Given the description of an element on the screen output the (x, y) to click on. 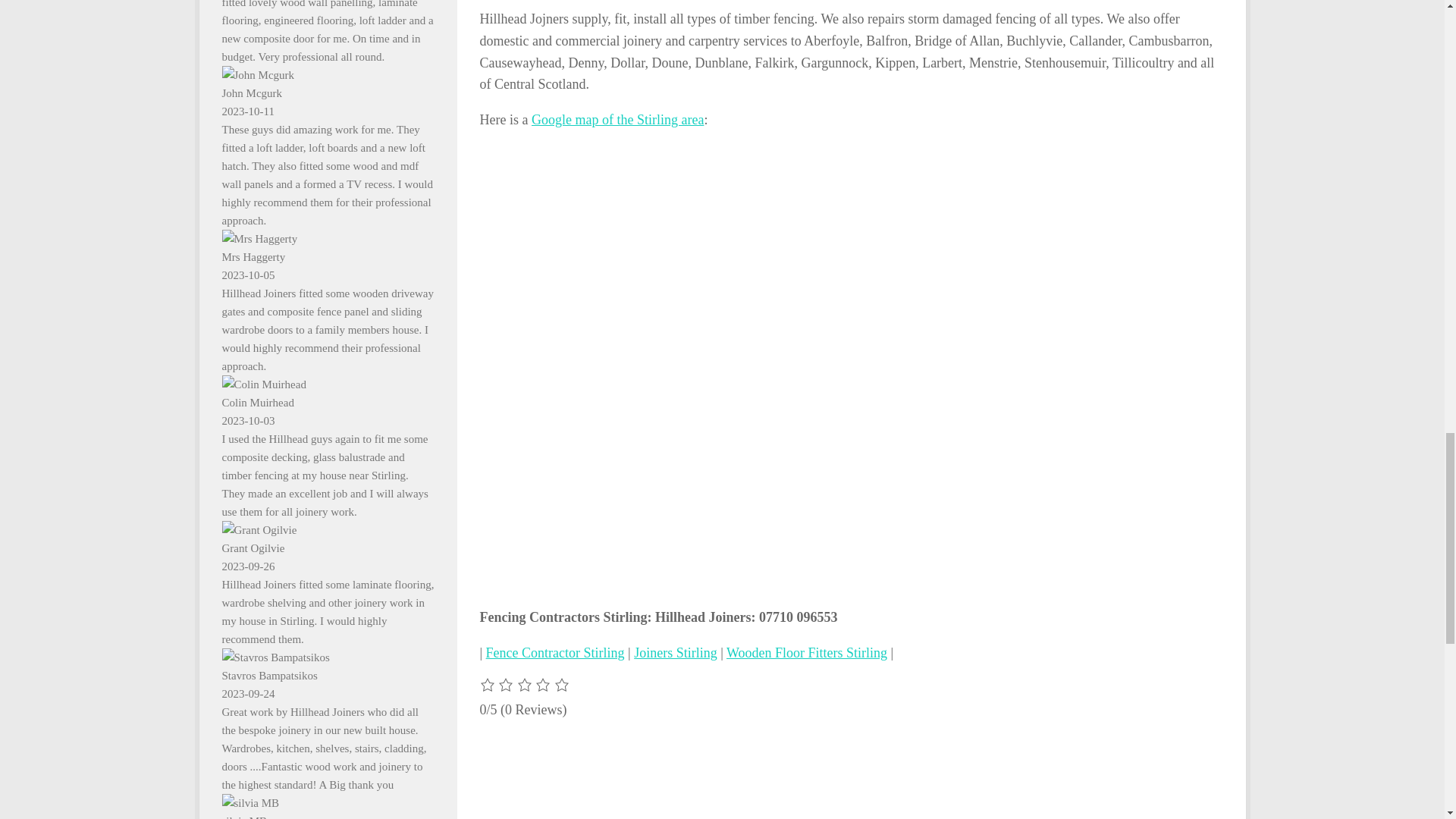
Wooden Floor Fitters Stirling (806, 652)
Google map of the Stirling area (617, 119)
Joiners Stirling (675, 652)
Fence Contractor Stirling (555, 652)
